Given the description of an element on the screen output the (x, y) to click on. 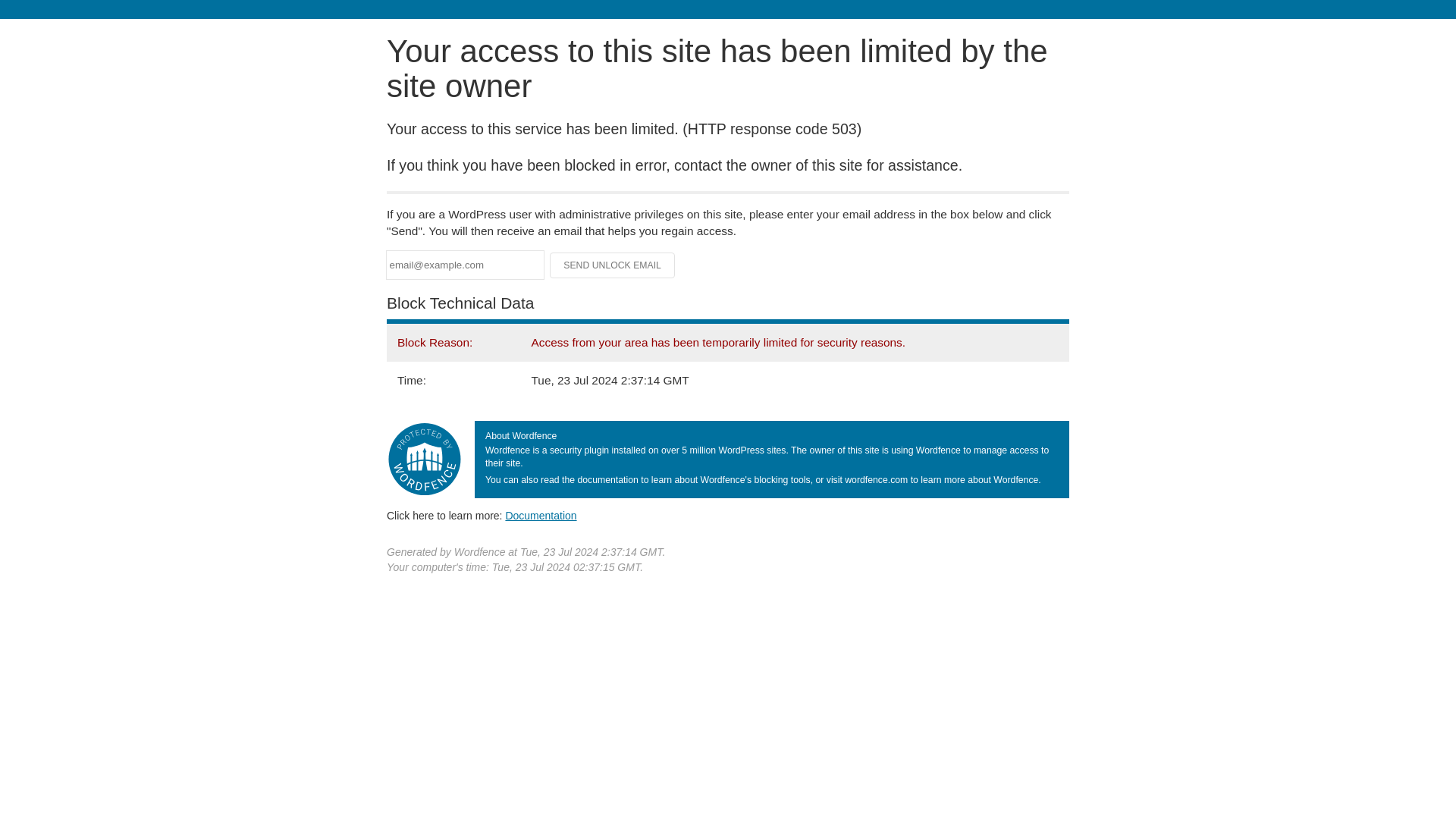
Send Unlock Email (612, 265)
Send Unlock Email (612, 265)
Documentation (540, 515)
